Given the description of an element on the screen output the (x, y) to click on. 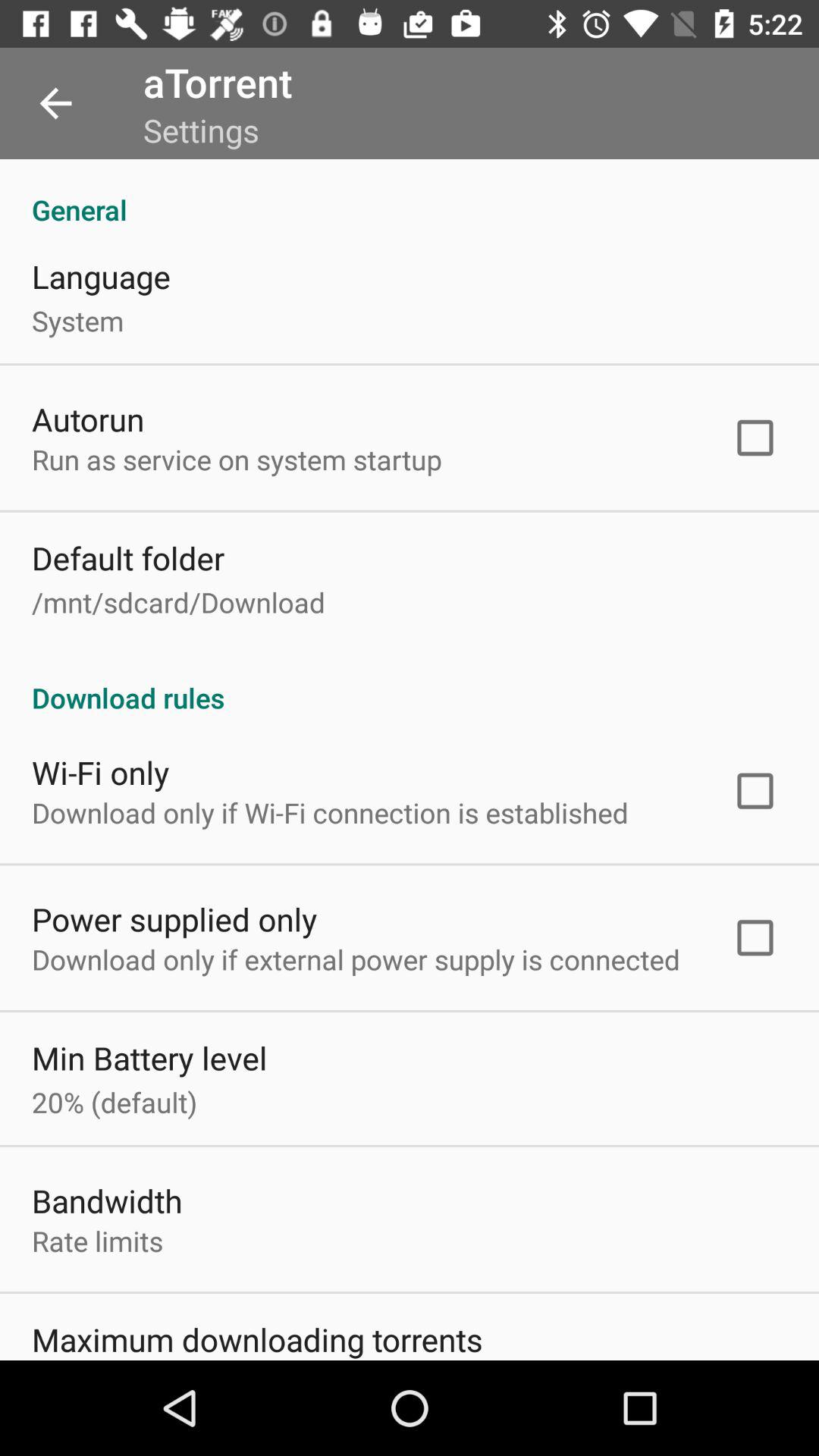
open the icon above the run as service (87, 418)
